Given the description of an element on the screen output the (x, y) to click on. 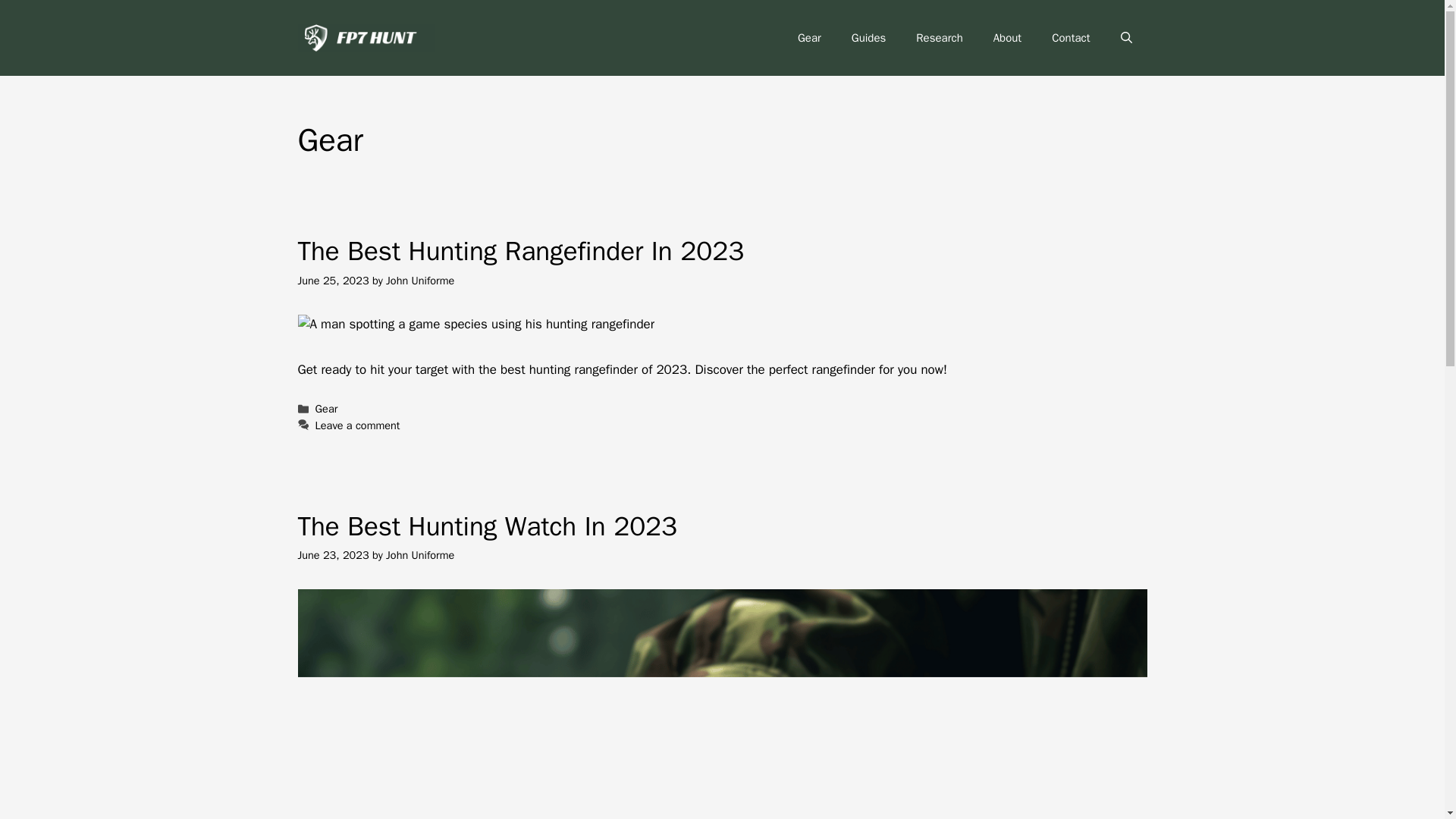
Gear (809, 37)
Gear (326, 408)
Leave a comment (357, 425)
Guides (868, 37)
The Best Hunting Watch In 2023 (487, 525)
Contact (1070, 37)
The Best Hunting Rangefinder In 2023 (520, 250)
View all posts by John Uniforme (419, 280)
John Uniforme (419, 280)
John Uniforme (419, 554)
